Given the description of an element on the screen output the (x, y) to click on. 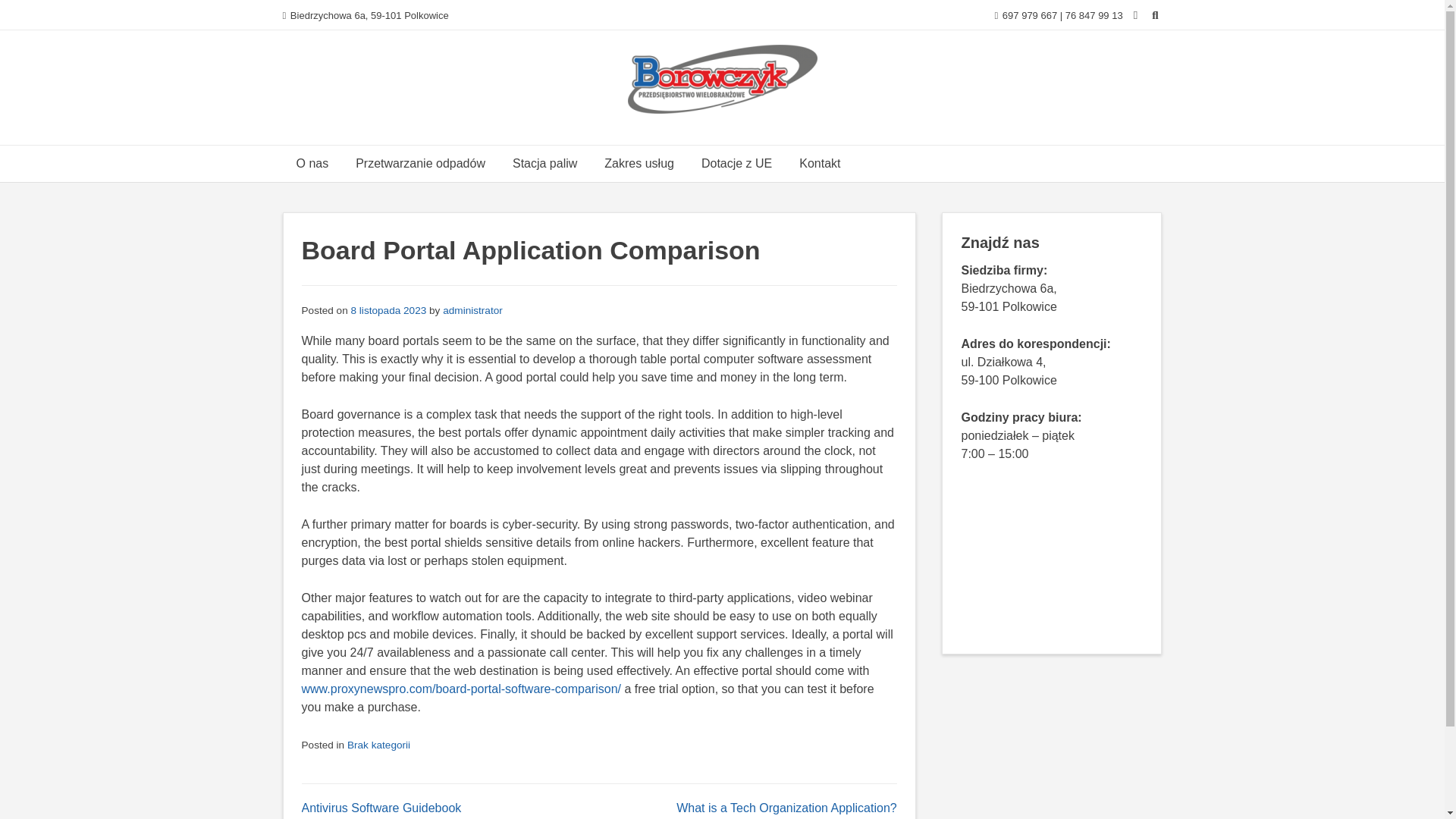
Szukaj (26, 13)
Stacja paliw (545, 163)
What is a Tech Organization Application? (786, 807)
Kontakt (819, 163)
administrator (472, 310)
Antivirus Software Guidebook (381, 807)
Dotacje z UE (736, 163)
8 listopada 2023 (388, 310)
Brak kategorii (378, 745)
O nas (312, 163)
